Given the description of an element on the screen output the (x, y) to click on. 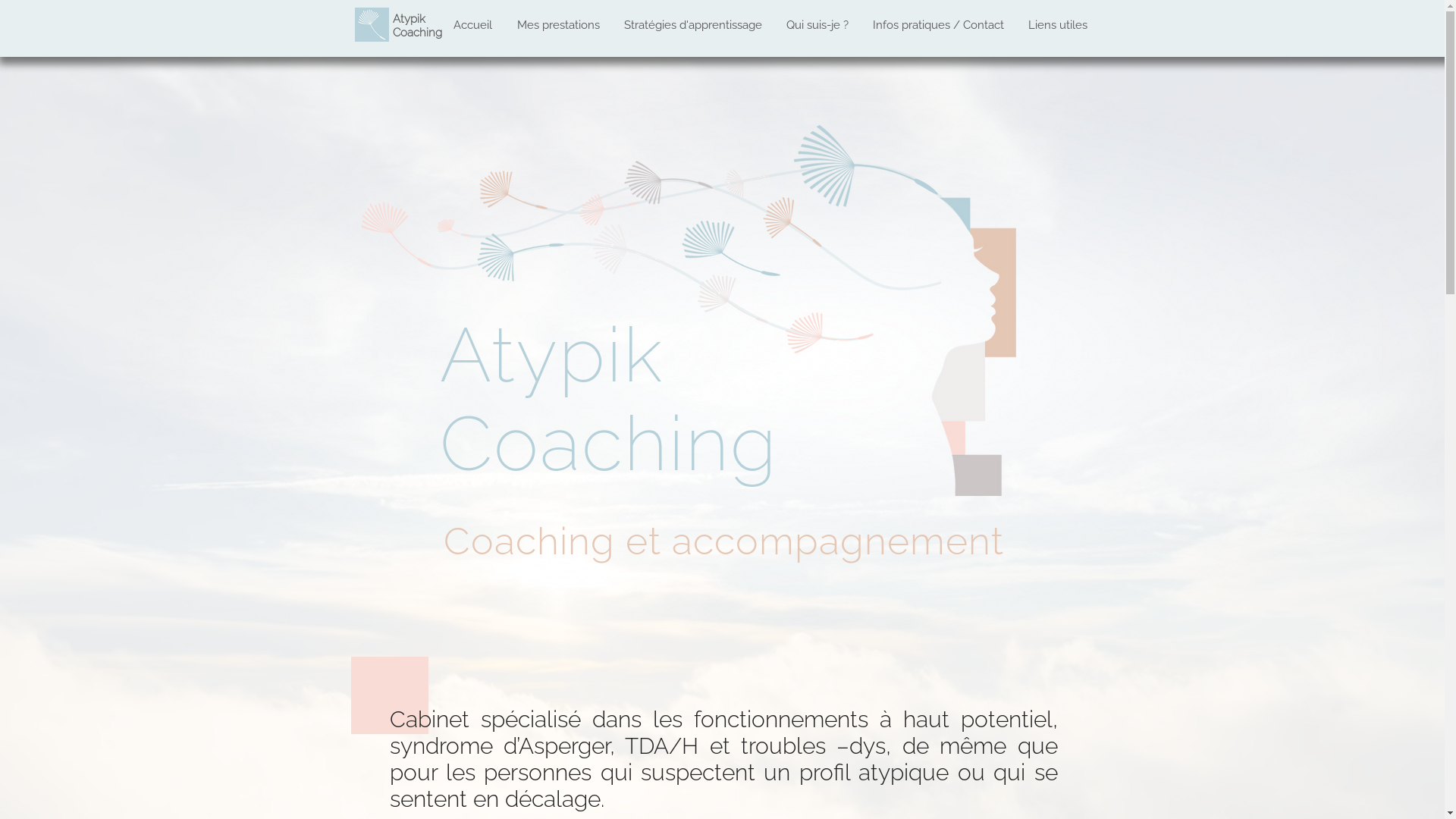
Atypik
Coaching Element type: text (417, 25)
Qui suis-je ? Element type: text (818, 24)
Liens utiles Element type: text (1057, 24)
Infos pratiques / Contact Element type: text (938, 24)
Accueil Element type: text (473, 24)
